Given the description of an element on the screen output the (x, y) to click on. 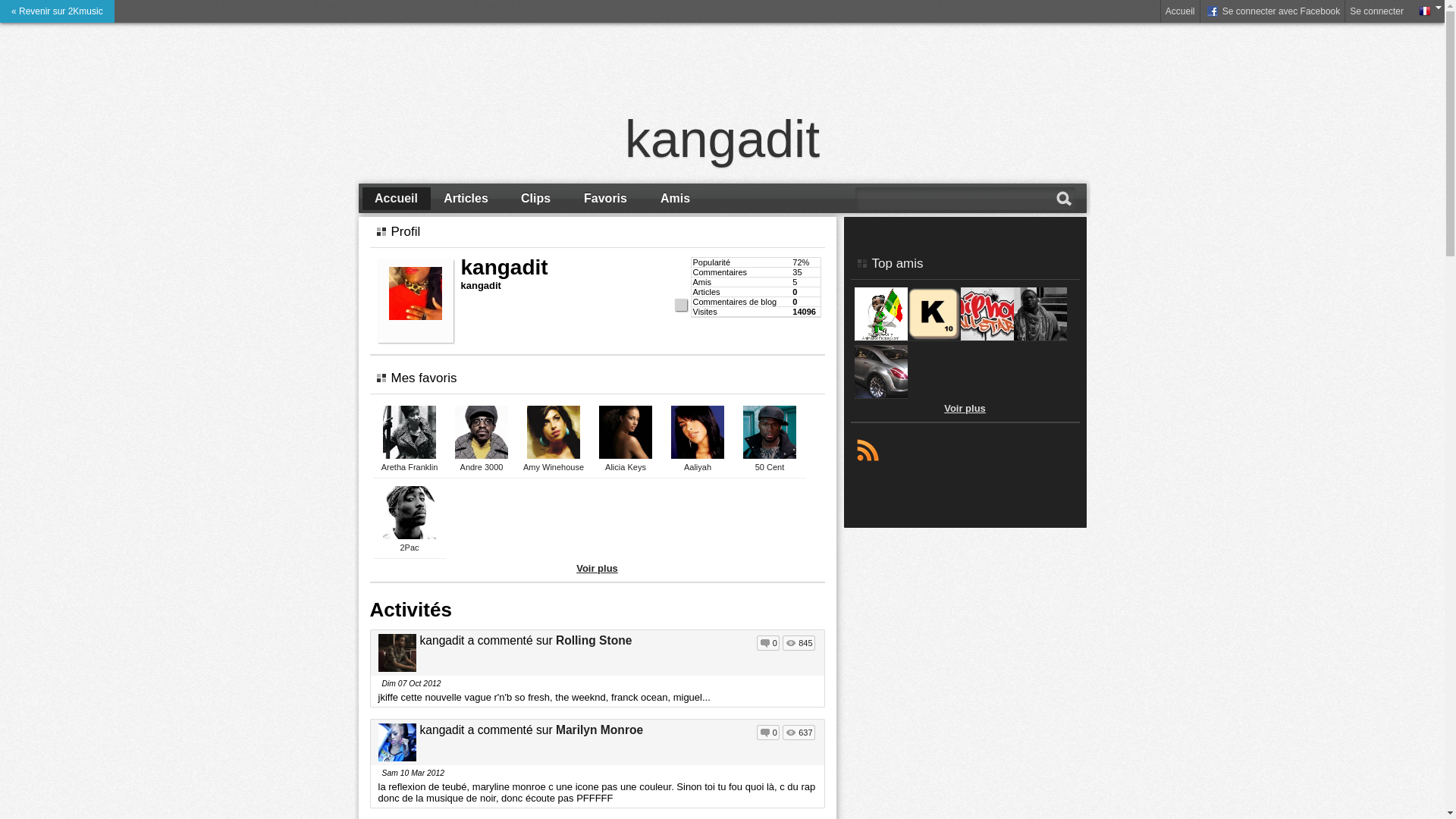
Alicia Keys Element type: text (625, 466)
rakim19 Element type: hover (933, 337)
0 Element type: text (767, 642)
kangadit Element type: text (722, 138)
Favoris Element type: text (605, 198)
Amis Element type: text (675, 198)
Rolling Stone Element type: text (593, 639)
  Element type: text (867, 449)
Accueil Element type: text (1180, 11)
Voir plus Element type: text (597, 568)
Voir plus Element type: text (964, 408)
Aaliyah Element type: text (697, 466)
Accueil Element type: text (396, 198)
50 Cent Element type: text (769, 466)
Marilyn Monroe Element type: text (599, 729)
paulboss Element type: hover (1039, 337)
0 Element type: text (767, 732)
2Pac Element type: text (408, 547)
 Se connecter avec Facebook Element type: text (1272, 11)
Aretha Franklin Element type: text (409, 466)
Clips Element type: text (536, 198)
Se connecter Element type: text (1376, 11)
DJ KELLY Element type: hover (879, 337)
Andre 3000 Element type: text (481, 466)
ffgang Element type: hover (986, 337)
Articles Element type: text (466, 198)
Amy Winehouse Element type: text (553, 466)
Yenamawu Element type: hover (879, 395)
